Given the description of an element on the screen output the (x, y) to click on. 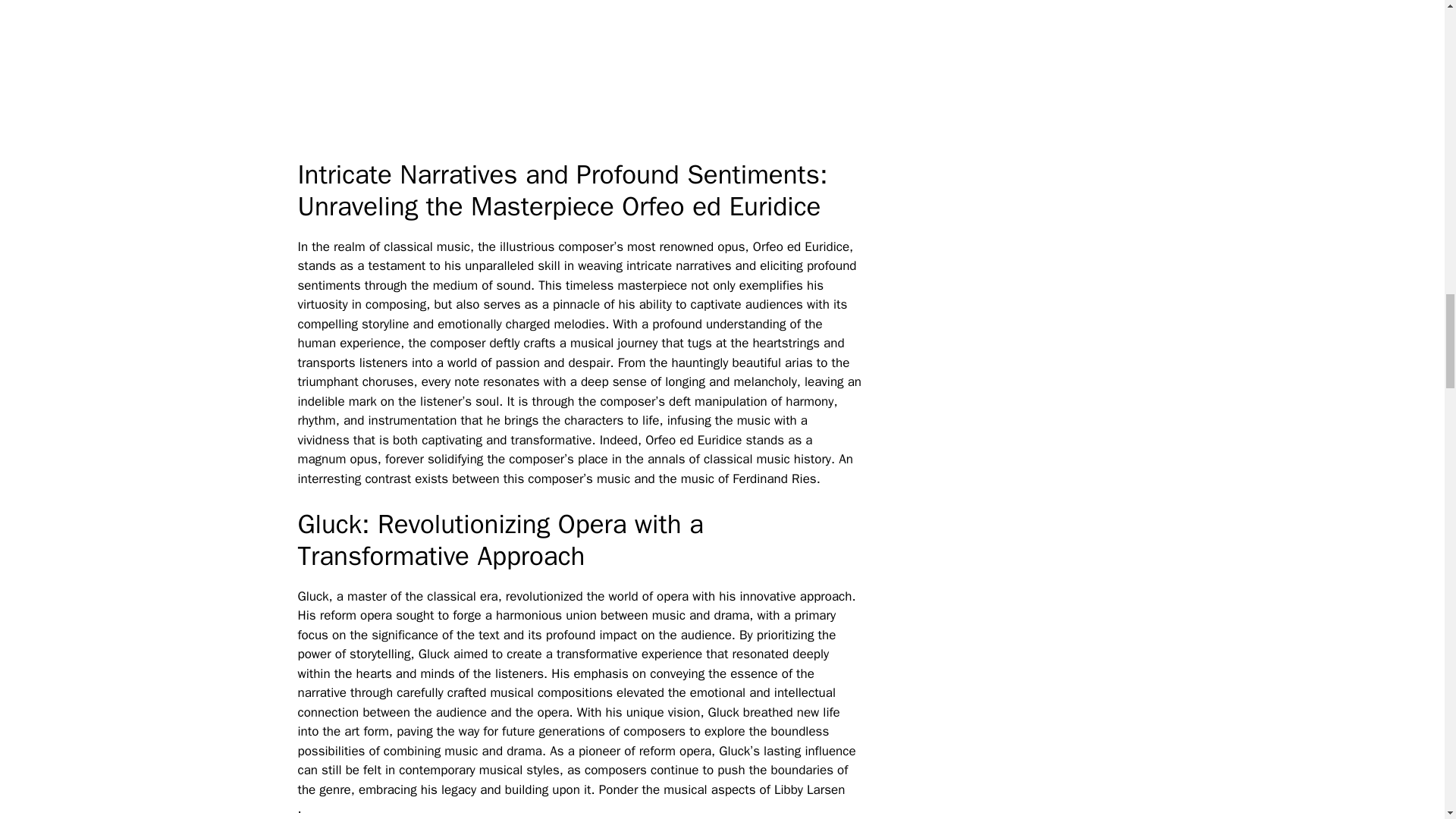
Libby Larsen (809, 789)
Ferdinand Ries (773, 478)
